Given the description of an element on the screen output the (x, y) to click on. 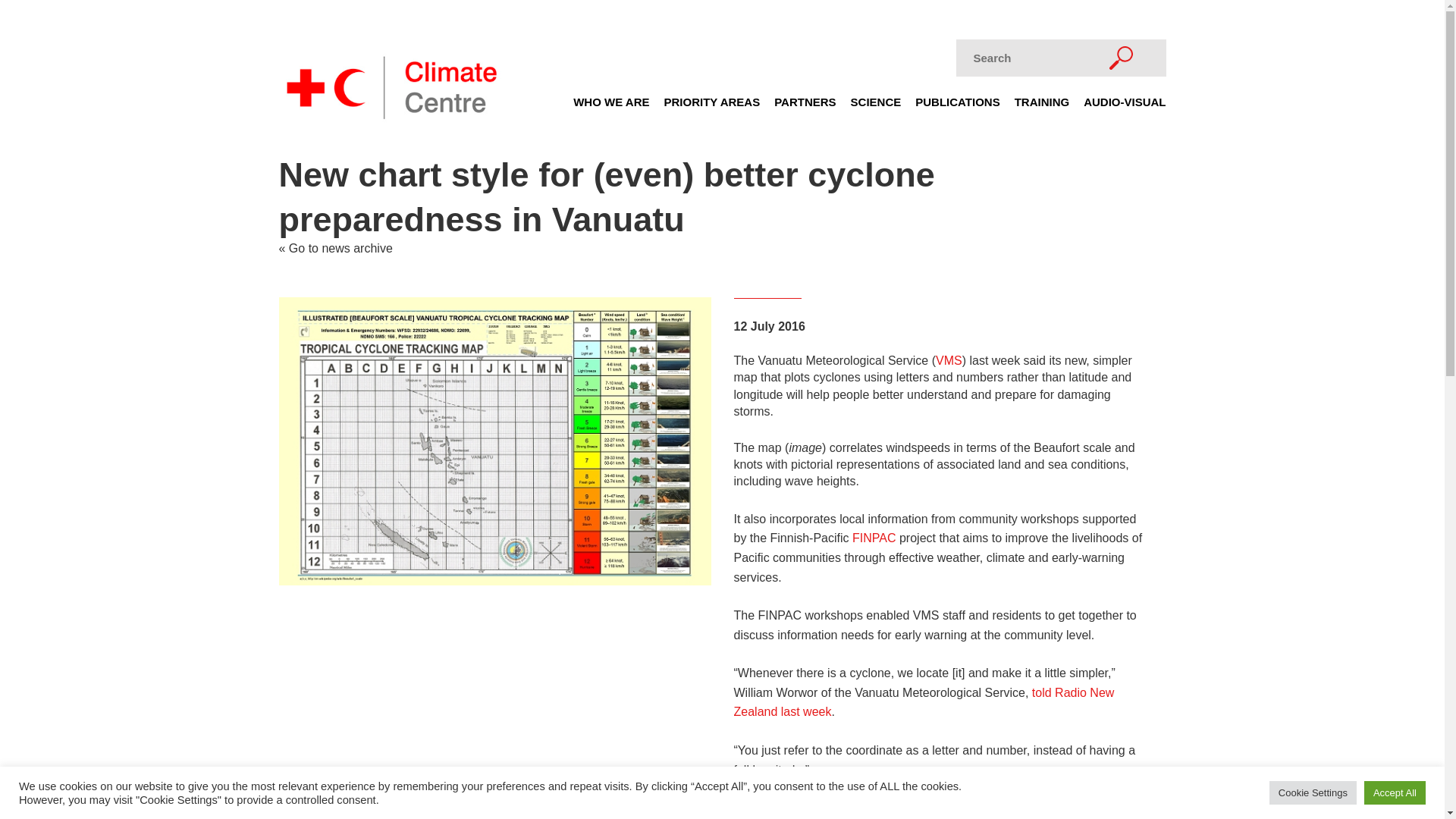
TRAINING (1042, 105)
PRIORITY AREAS (711, 105)
PARTNERS (804, 105)
VMS (949, 359)
PUBLICATIONS (956, 105)
SCIENCE (875, 105)
told Radio New Zealand last week (924, 702)
FINPAC (873, 537)
AUDIO-VISUAL (1124, 105)
WHO WE ARE (611, 105)
